Given the description of an element on the screen output the (x, y) to click on. 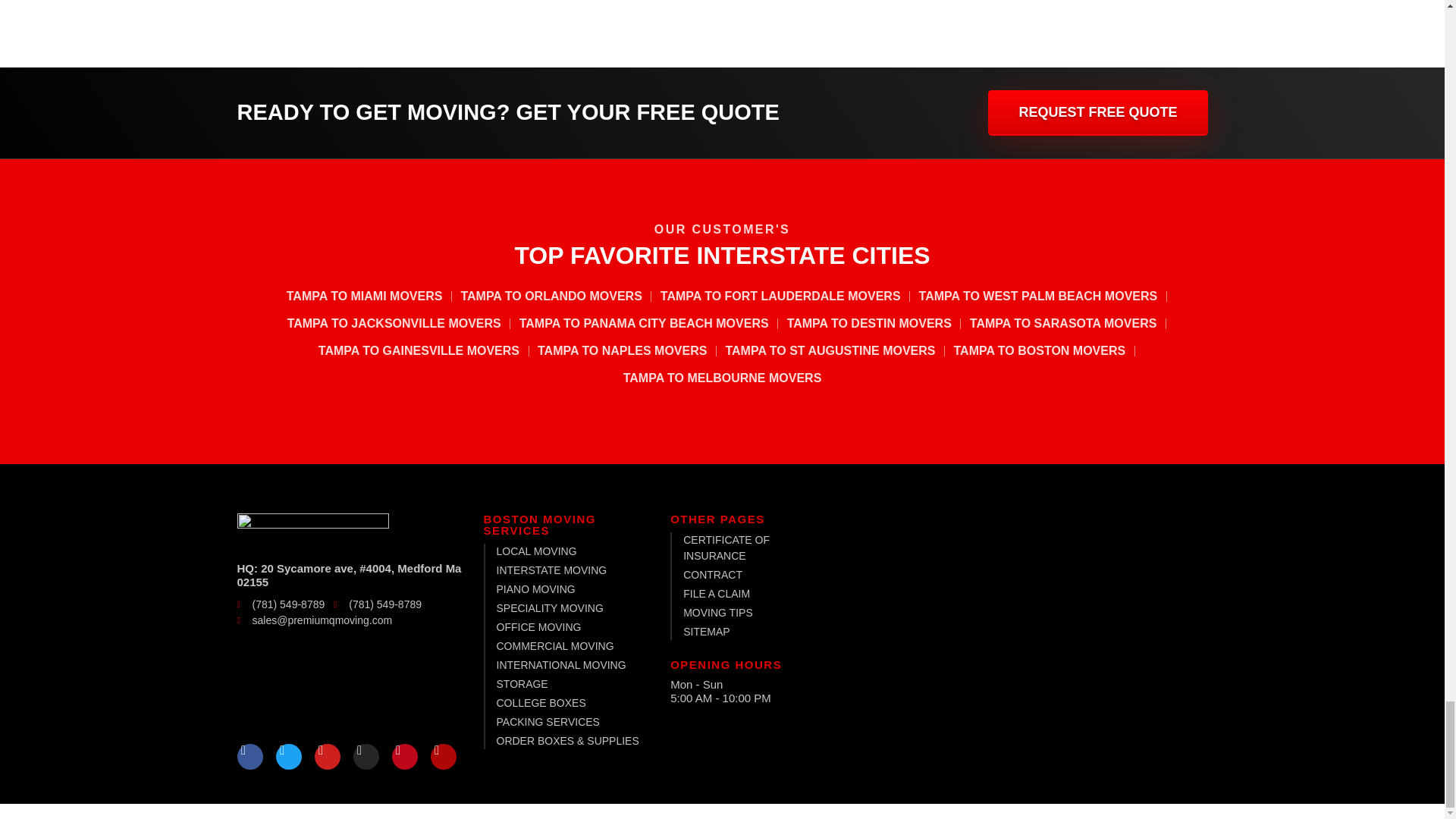
premium q moving boston (1003, 643)
